Given the description of an element on the screen output the (x, y) to click on. 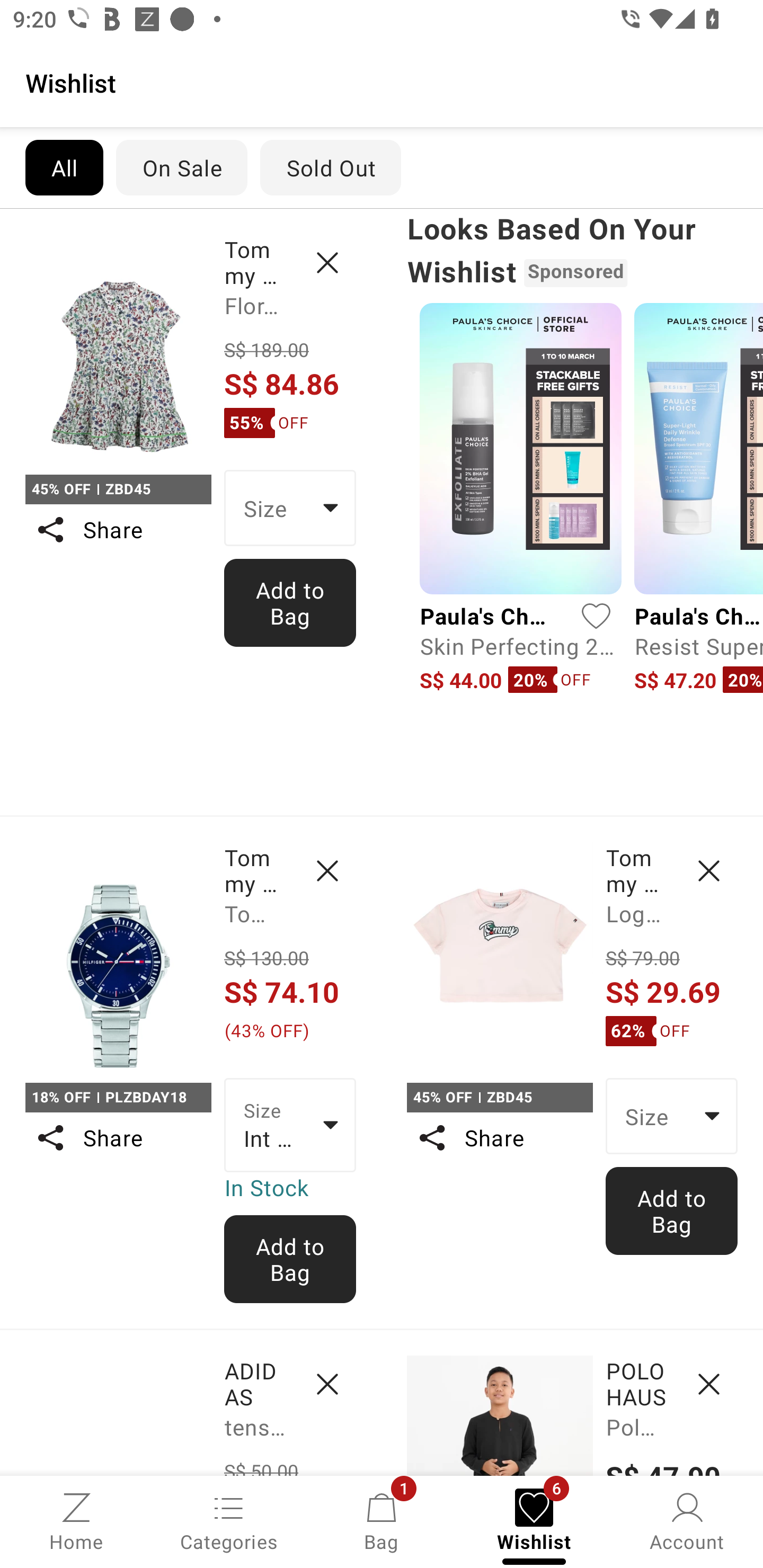
Wishlist (381, 82)
All (64, 167)
On Sale (181, 167)
Sold Out (330, 167)
Size (290, 507)
Share (118, 529)
Add to Bag (290, 602)
Size Int One Size (290, 1125)
Size (671, 1116)
Share (118, 1137)
Share (499, 1137)
Add to Bag (671, 1210)
Add to Bag (290, 1259)
Home (76, 1519)
Categories (228, 1519)
Bag, 1 new notification Bag (381, 1519)
Account (686, 1519)
